Given the description of an element on the screen output the (x, y) to click on. 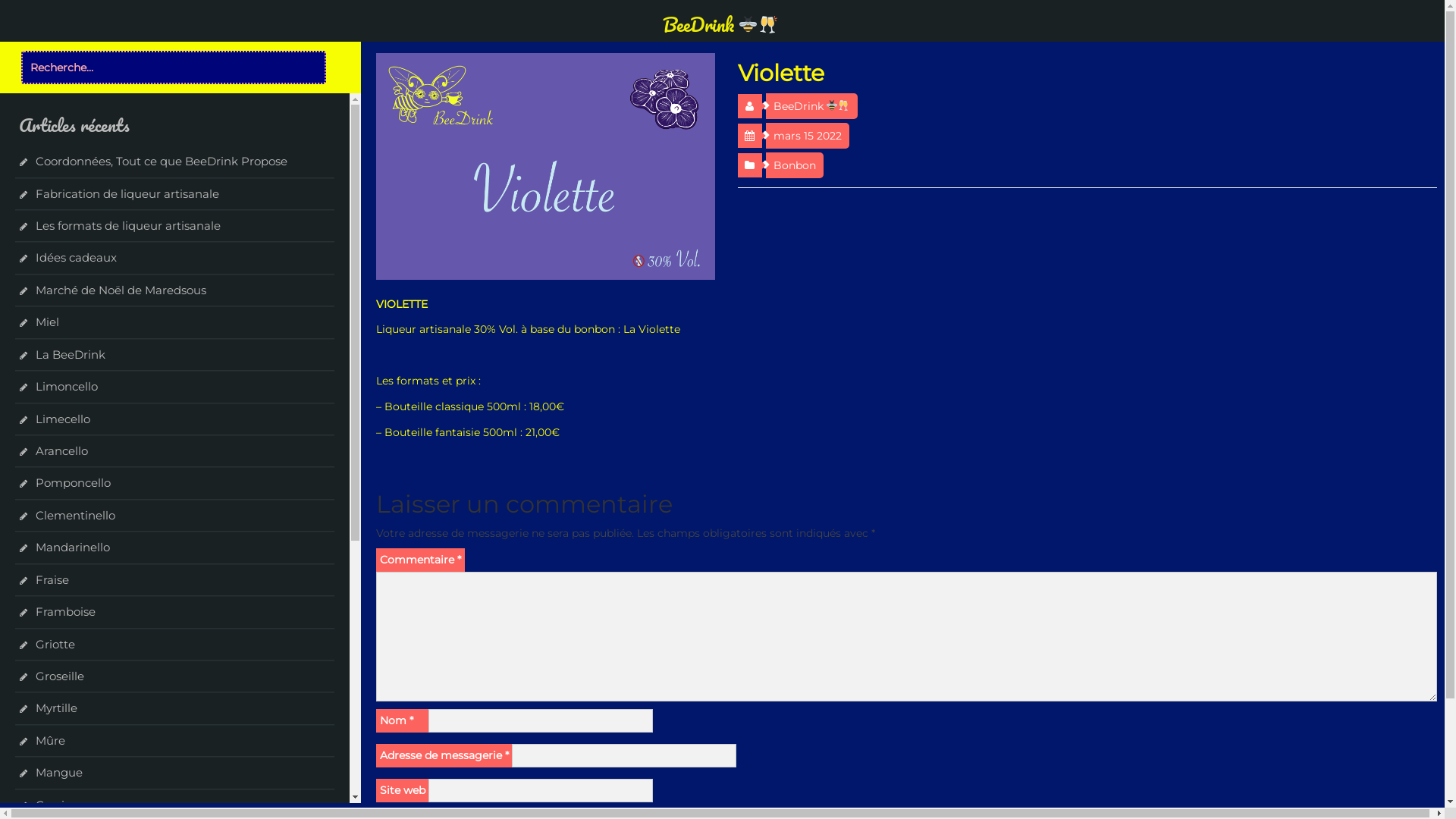
Bonbon Element type: text (794, 165)
BeeDrink Element type: text (811, 106)
Pomponcello Element type: text (72, 482)
Framboise Element type: text (65, 611)
Mangue Element type: text (58, 772)
Griotte Element type: text (55, 644)
Miel Element type: text (47, 321)
La BeeDrink Element type: text (70, 354)
Arancello Element type: text (61, 450)
Cassis Element type: text (52, 804)
Rechercher Element type: text (36, 9)
Limecello Element type: text (62, 418)
BeeDrink Element type: text (720, 24)
Myrtille Element type: text (56, 707)
Fraise Element type: text (52, 579)
Fabrication de liqueur artisanale Element type: text (127, 193)
Groseille Element type: text (59, 675)
Clementinello Element type: text (75, 515)
Mandarinello Element type: text (72, 546)
Limoncello Element type: text (66, 386)
Les formats de liqueur artisanale Element type: text (127, 225)
